Given the description of an element on the screen output the (x, y) to click on. 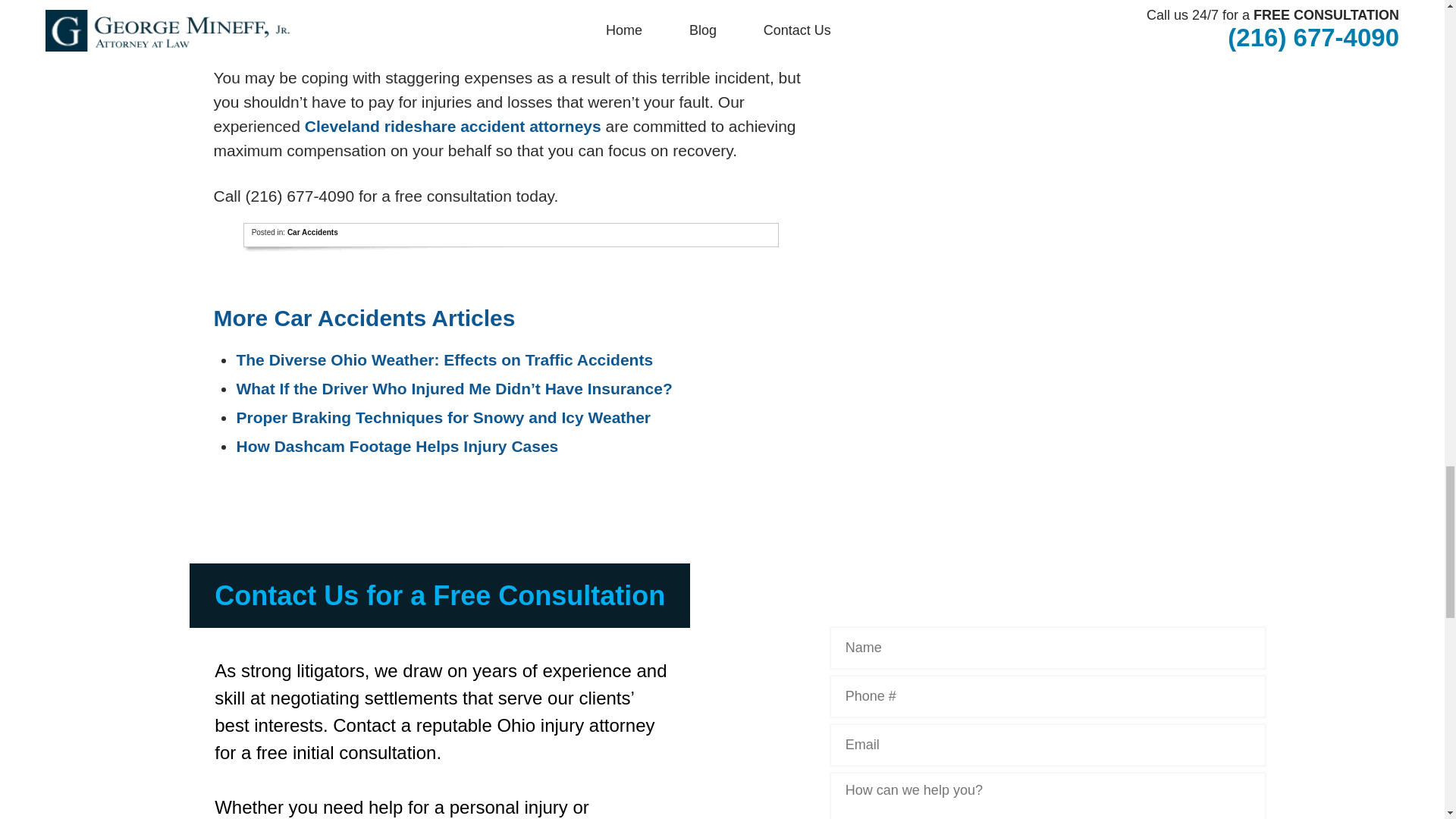
Proper Braking Techniques for Snowy and Icy Weather (442, 416)
Cleveland rideshare accident attorneys (452, 126)
Car Accidents (311, 232)
The Diverse Ohio Weather: Effects on Traffic Accidents (443, 359)
How Dashcam Footage Helps Injury Cases (396, 446)
